Given the description of an element on the screen output the (x, y) to click on. 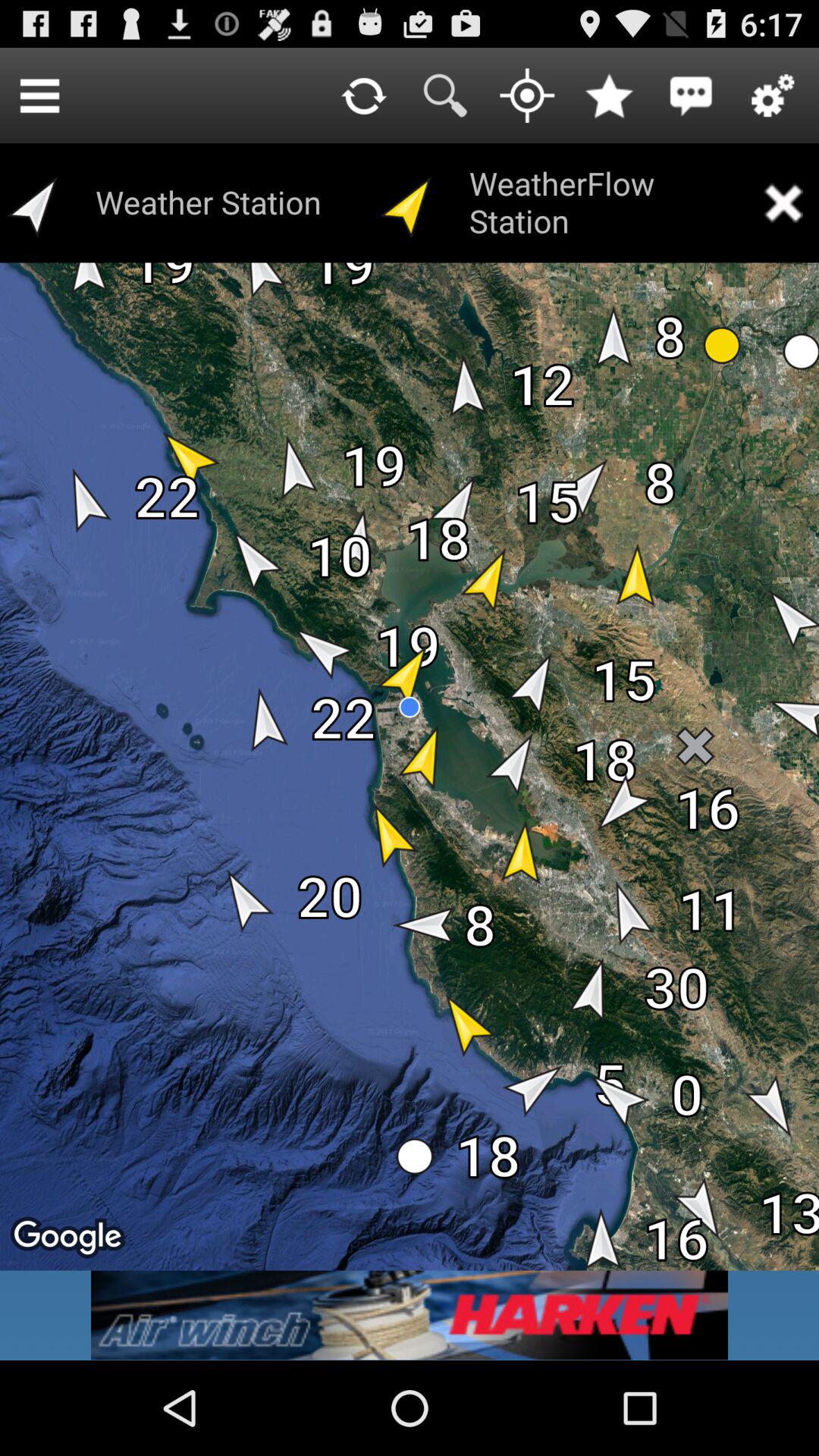
close the app (783, 202)
